Given the description of an element on the screen output the (x, y) to click on. 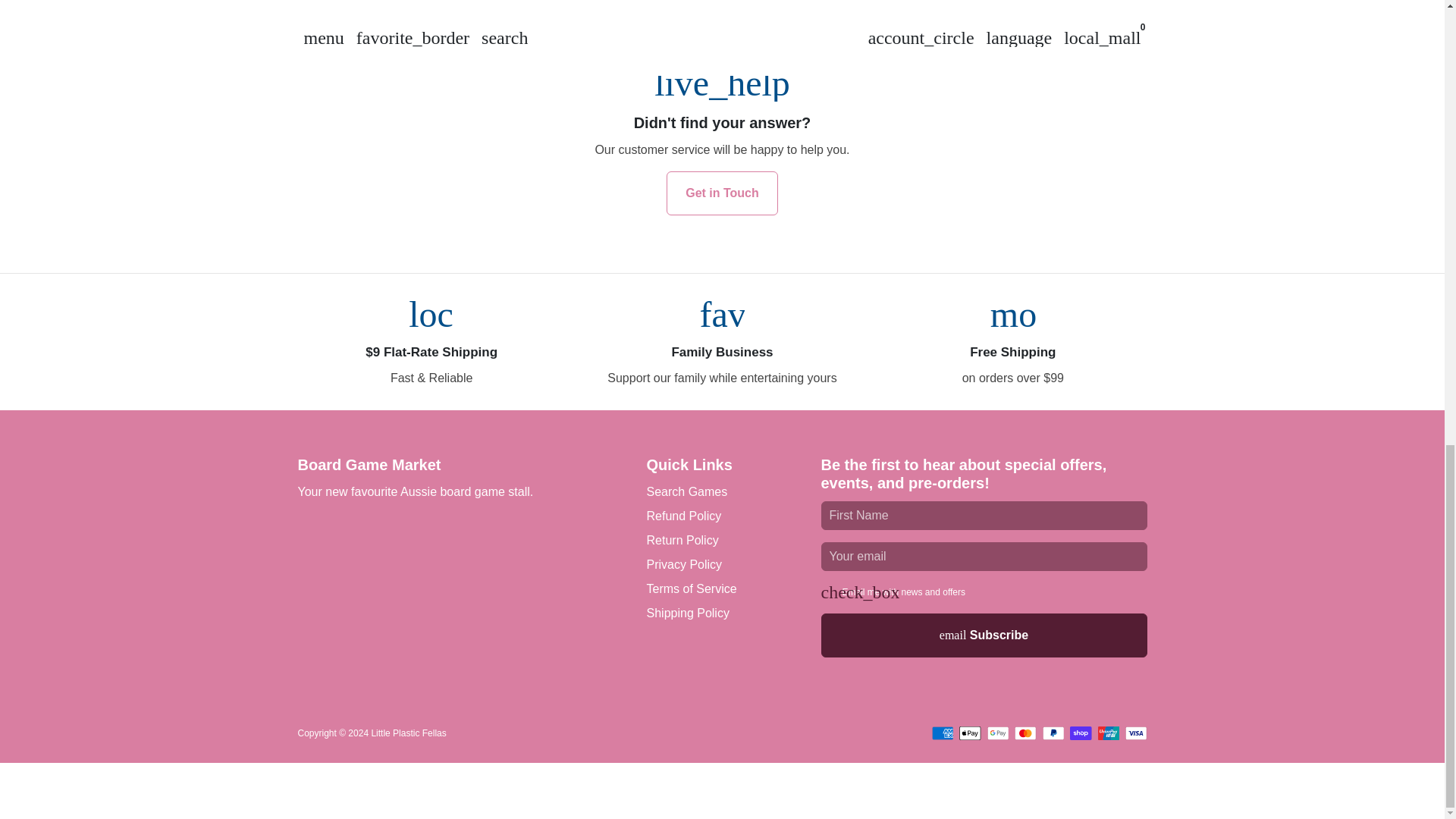
Apple Pay (970, 733)
American Express (941, 733)
